Given the description of an element on the screen output the (x, y) to click on. 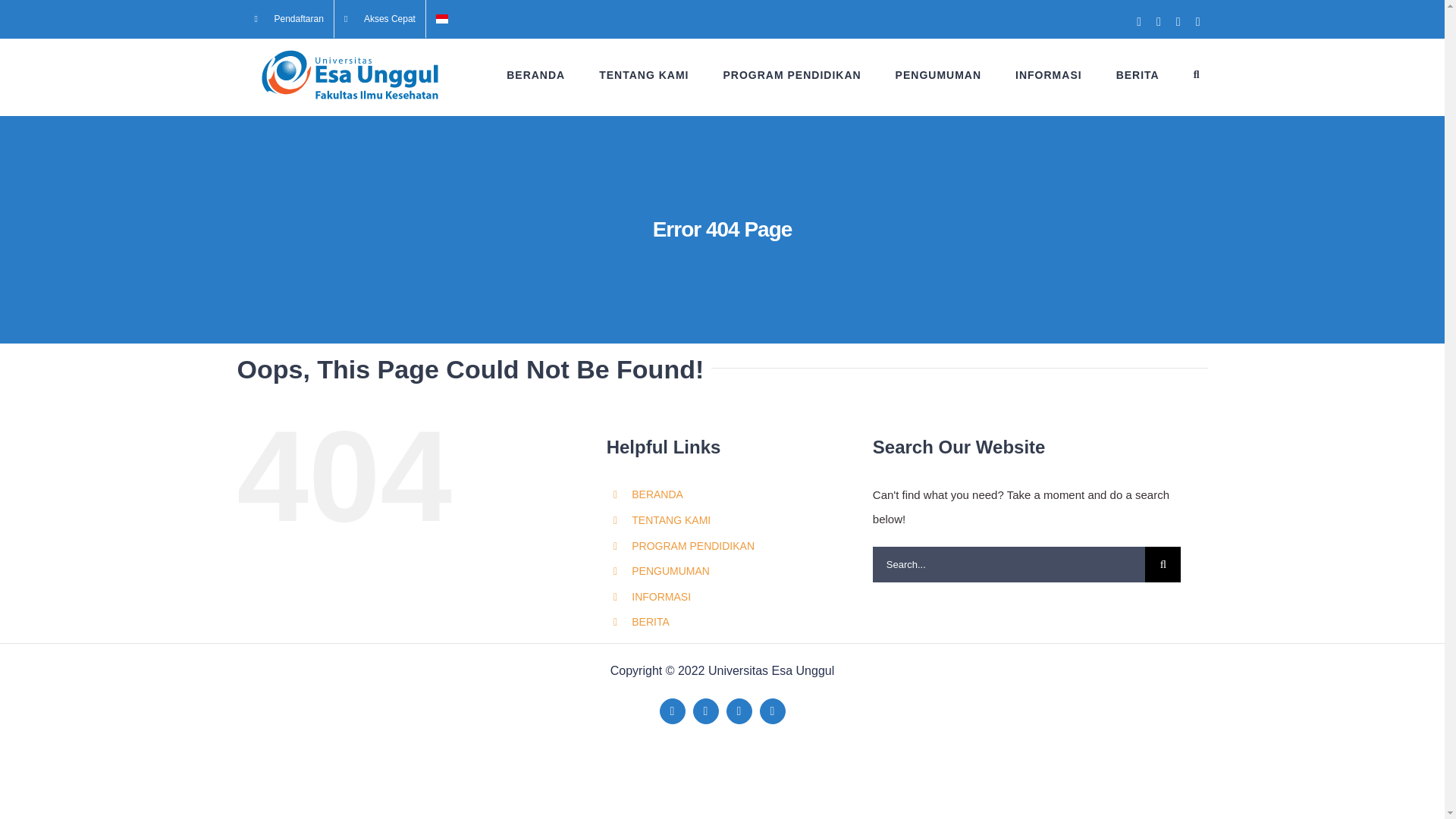
TENTANG KAMI (643, 74)
Pendaftaran (288, 18)
Instagram (773, 710)
Akses Cepat (379, 18)
Facebook (672, 710)
PROGRAM PENDIDIKAN (791, 74)
Twitter (706, 710)
YouTube (739, 710)
